Given the description of an element on the screen output the (x, y) to click on. 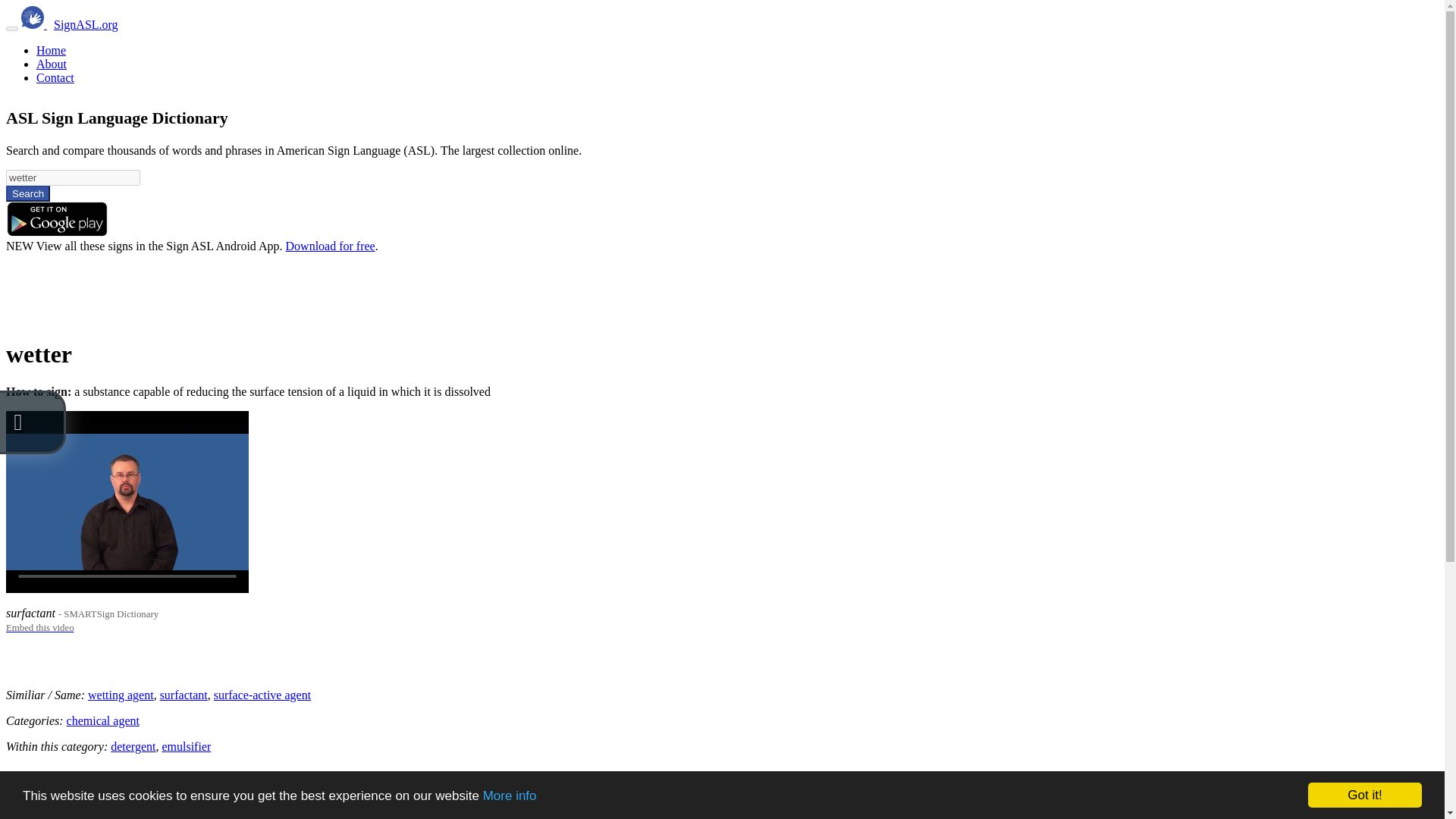
SignASL.org (85, 24)
Home (50, 50)
chemical agent (102, 720)
Embed this video (39, 626)
Advertisement (281, 287)
Contact (55, 77)
Embed this video (39, 626)
Search (27, 193)
Download for free (330, 245)
detergent (132, 746)
About (51, 63)
surface-active agent (262, 694)
surfactant (184, 694)
wetting agent (120, 694)
wetter (72, 177)
